Given the description of an element on the screen output the (x, y) to click on. 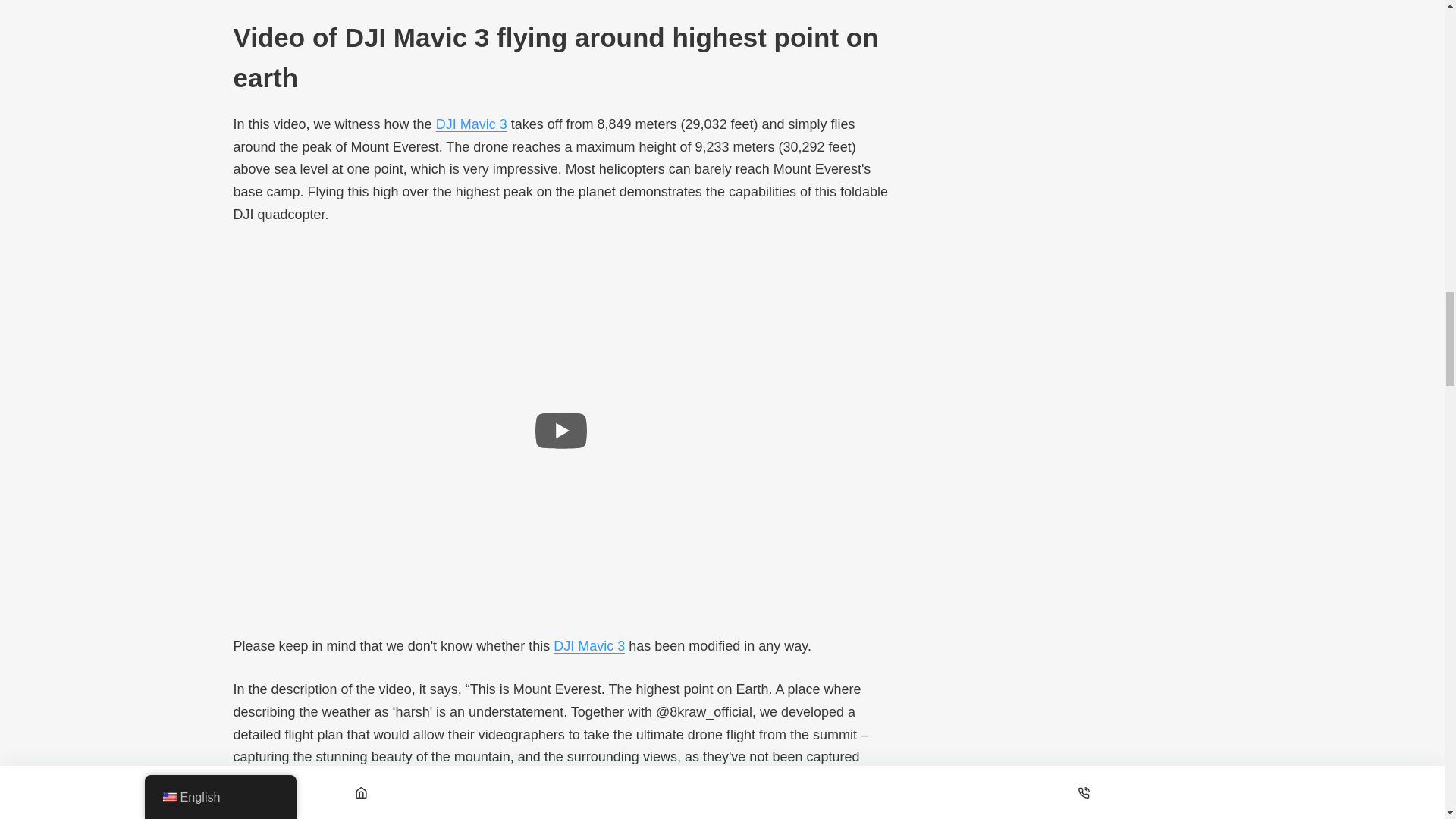
DJI Mavic 3 (588, 645)
Posts in the category Drone Video (353, 816)
DJI Mavic 3 (470, 124)
